Given the description of an element on the screen output the (x, y) to click on. 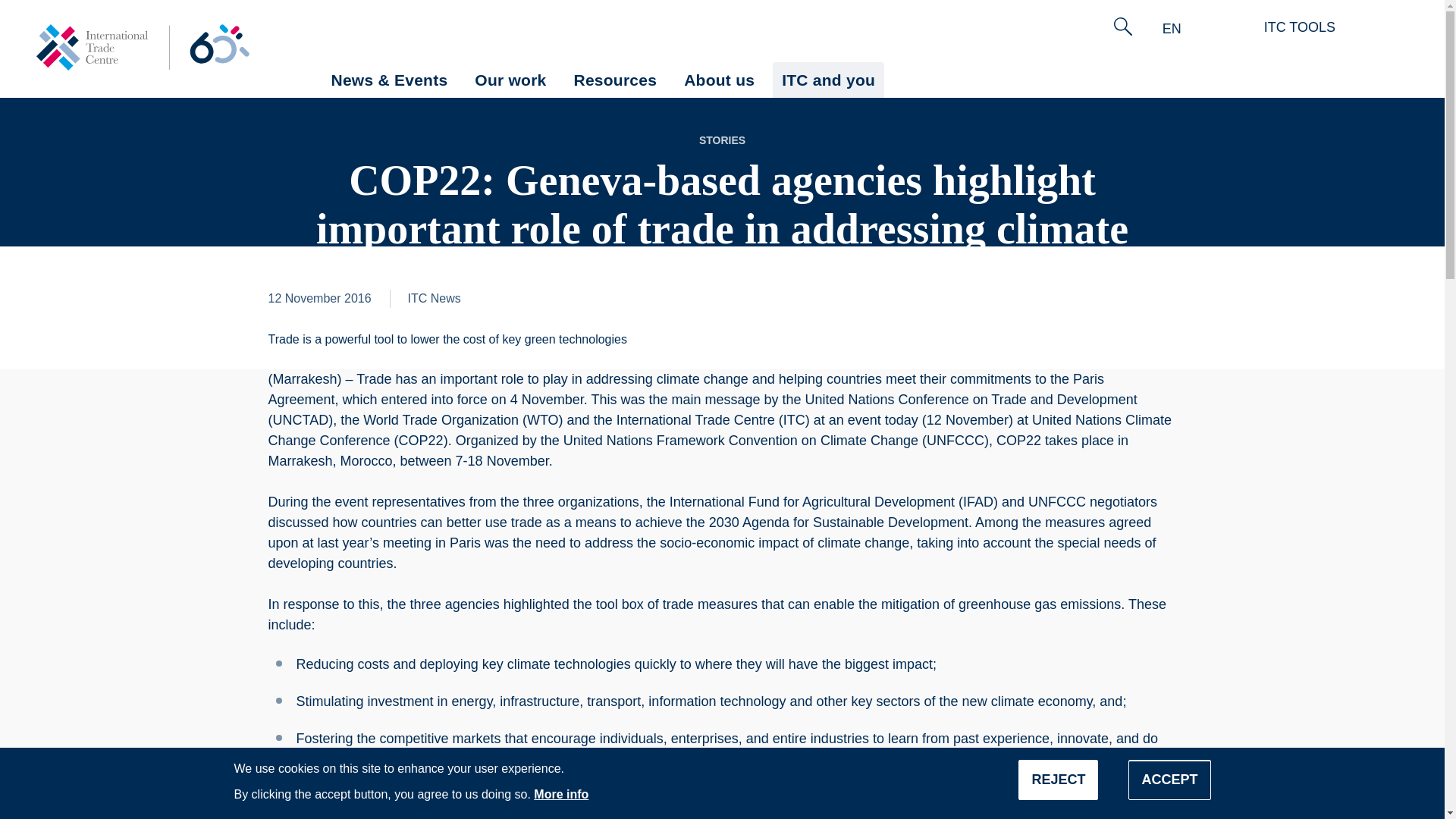
More info (561, 793)
Login (1379, 27)
Privacy settings (49, 806)
REJECT (1057, 780)
ACCEPT (1168, 780)
